Given the description of an element on the screen output the (x, y) to click on. 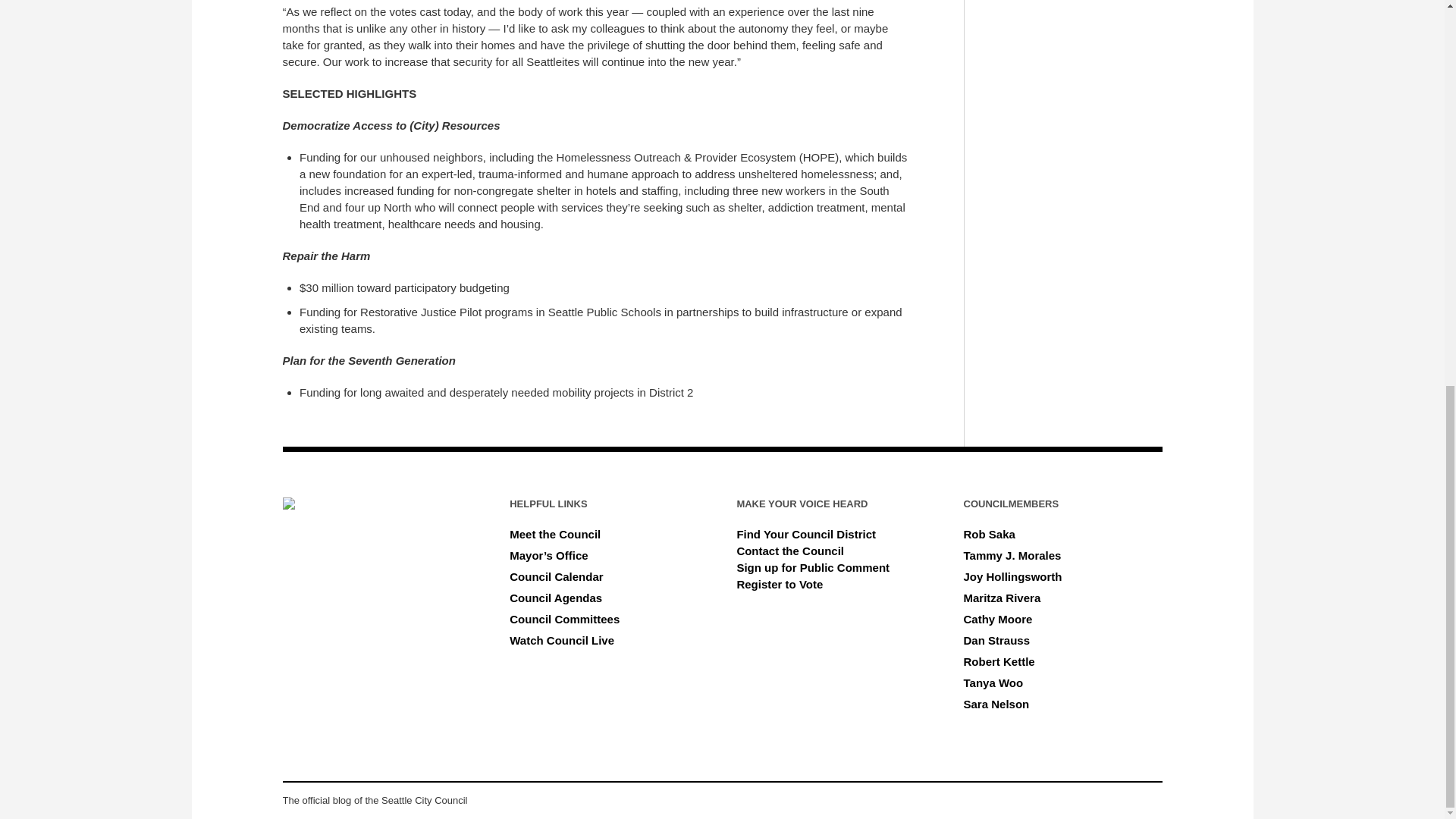
Maritza Rivera (1002, 597)
Contact the Council (790, 550)
Rob Saka (988, 533)
Register to Vote (779, 584)
Council Committees (564, 618)
Find Your Council District (806, 533)
Cathy Moore (997, 618)
Dan Strauss (996, 640)
Sign up for Public Comment (812, 567)
Tammy J. Morales (1012, 554)
